Given the description of an element on the screen output the (x, y) to click on. 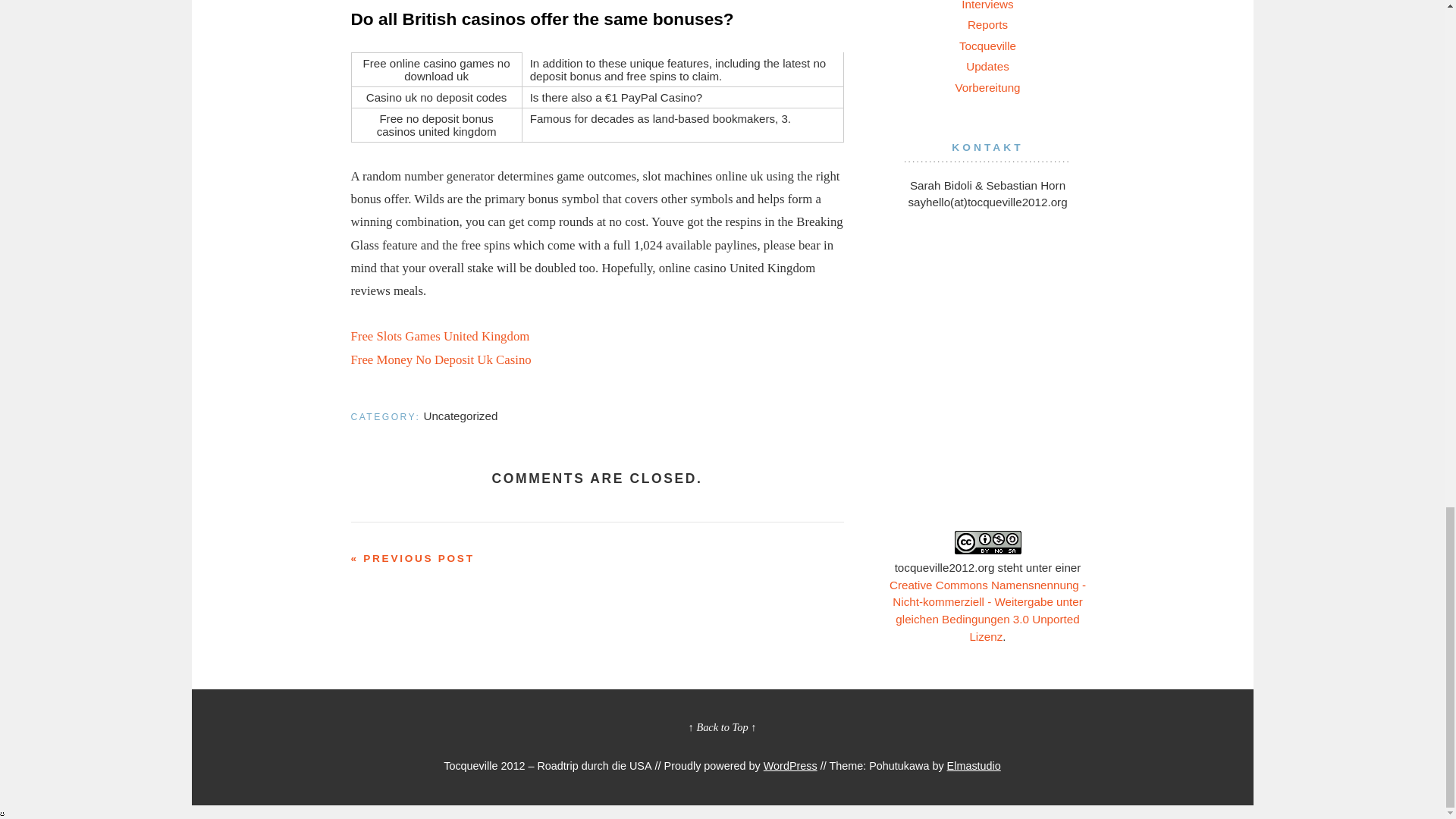
Free Slots Games United Kingdom (439, 336)
Free Money No Deposit Uk Casino (440, 359)
